Given the description of an element on the screen output the (x, y) to click on. 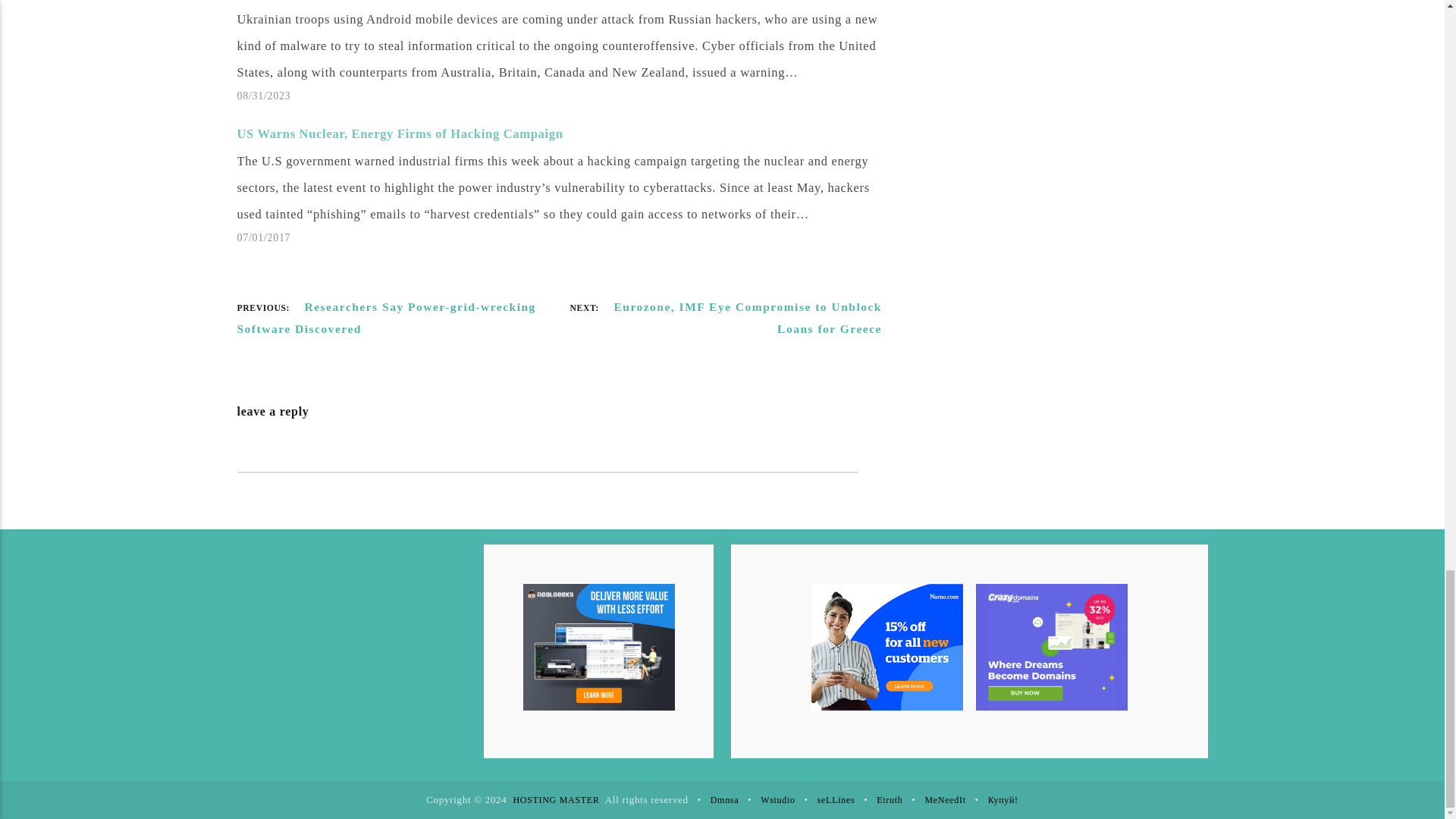
US Warns Nuclear, Energy Firms of Hacking Campaign (398, 133)
US Warns Nuclear, Energy Firms of Hacking Campaign (565, 183)
US Warns Nuclear, Energy Firms of Hacking Campaign (398, 133)
Russian Malware Targeting Ukrainian Mobile Devices (565, 53)
